Given the description of an element on the screen output the (x, y) to click on. 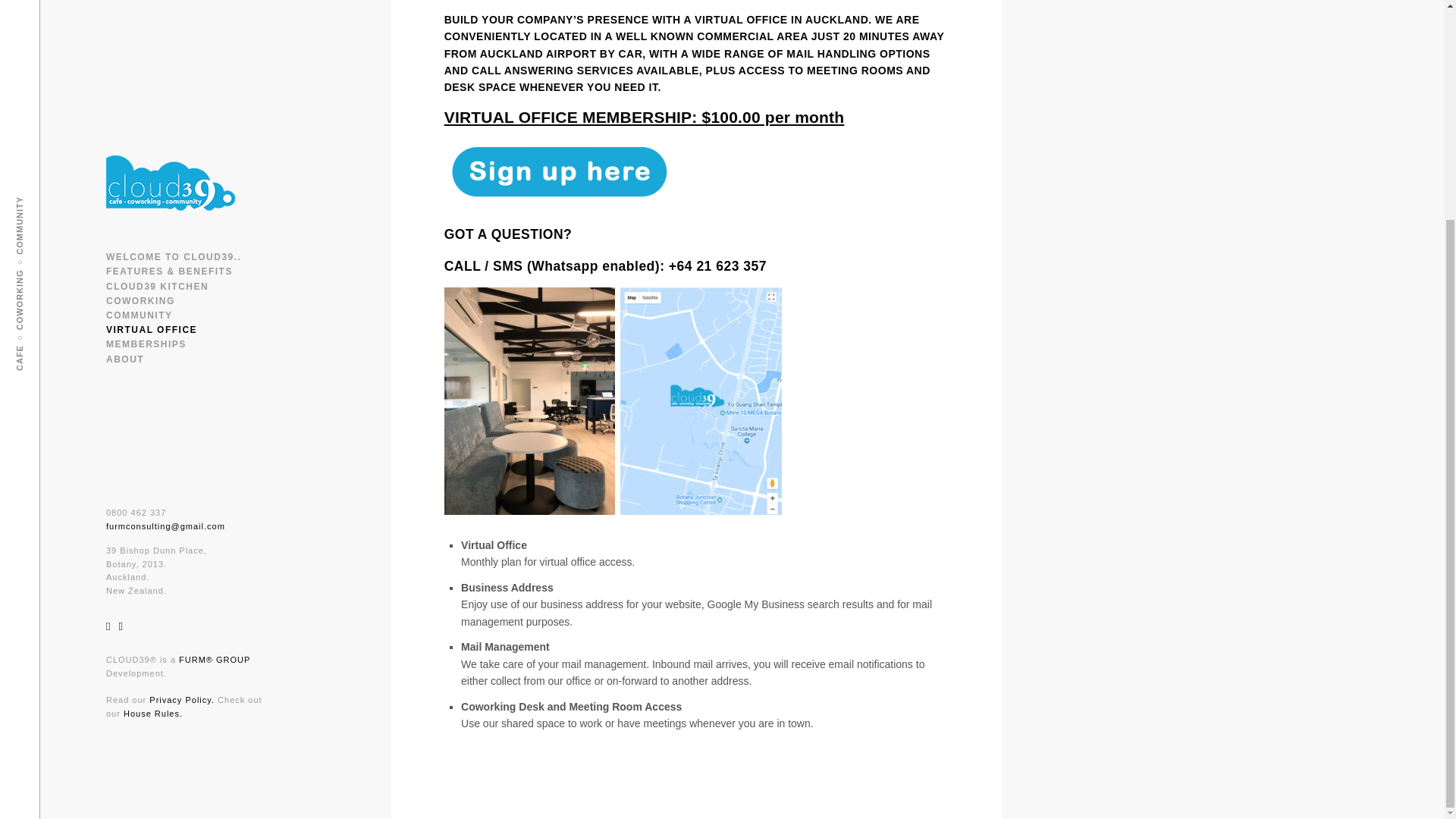
MEMBERSHIPS (146, 52)
ABOUT (125, 67)
House Rules. (153, 421)
COWORKING (140, 9)
Privacy Policy. (181, 408)
COMMUNITY (139, 23)
VIRTUAL OFFICE (151, 38)
